Given the description of an element on the screen output the (x, y) to click on. 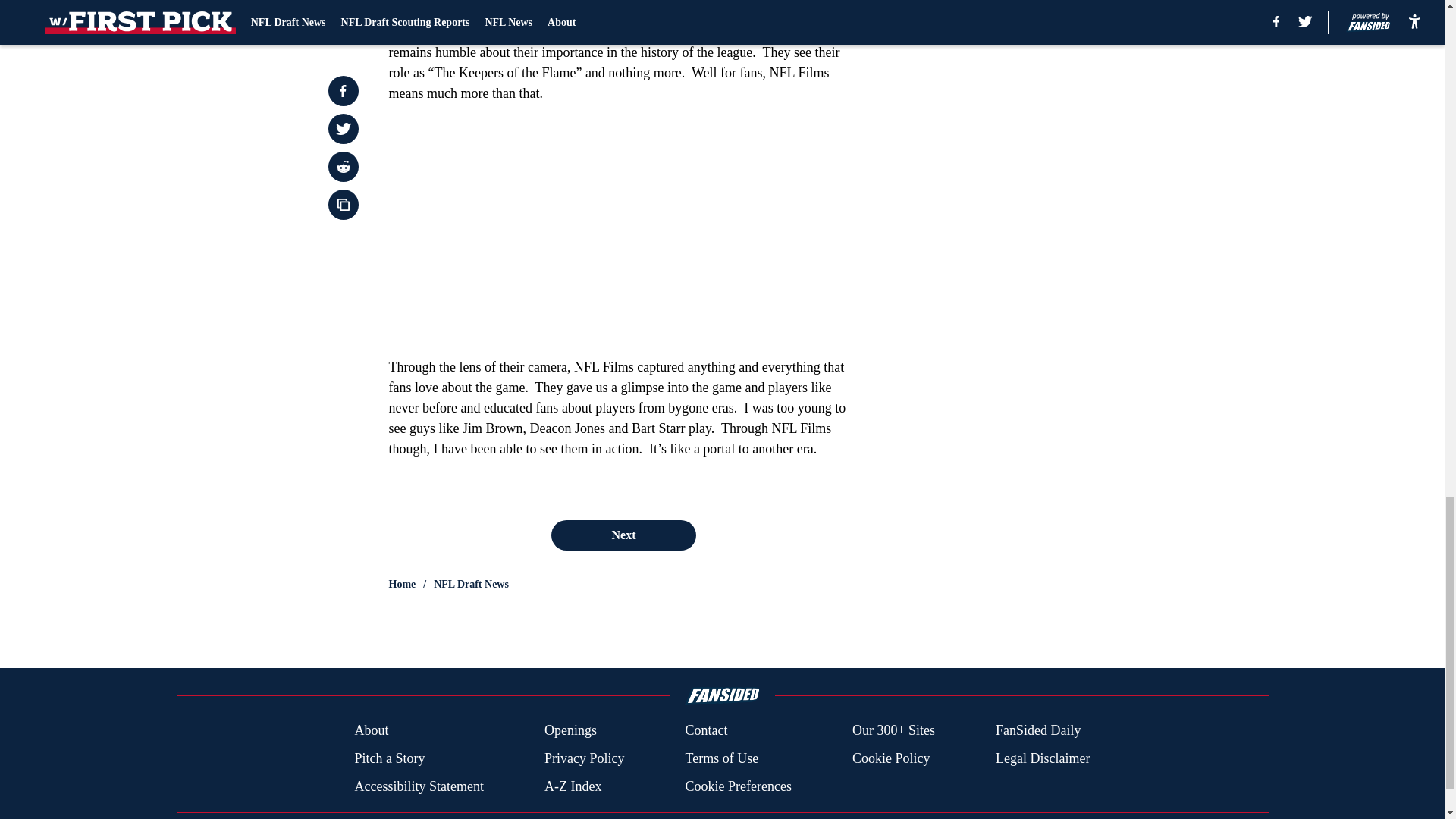
Next (622, 535)
Cookie Preferences (737, 786)
Openings (570, 730)
About (370, 730)
NFL Draft News (470, 584)
Accessibility Statement (418, 786)
Cookie Policy (890, 758)
Legal Disclaimer (1042, 758)
Home (401, 584)
Contact (705, 730)
